Given the description of an element on the screen output the (x, y) to click on. 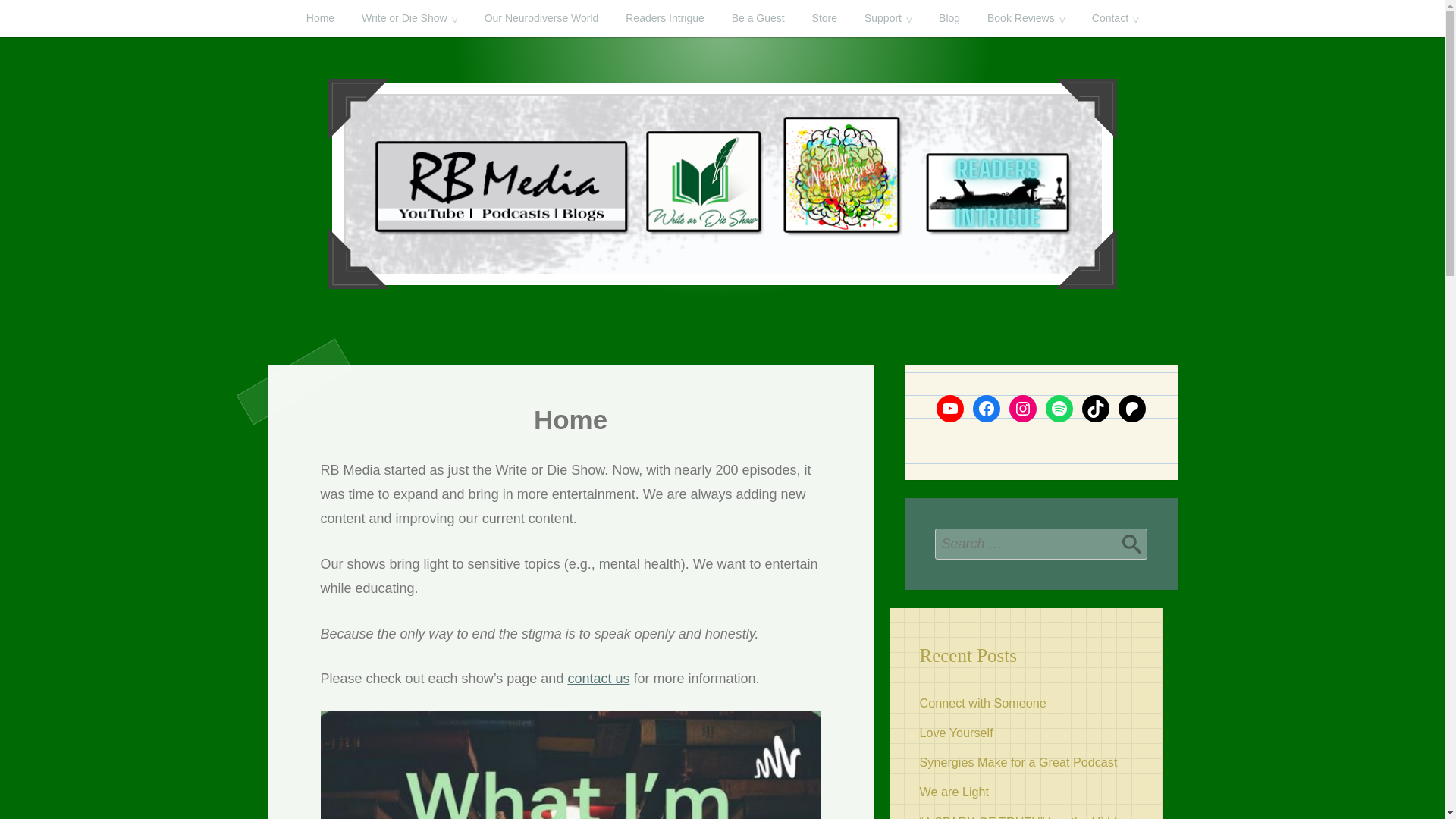
contact us (597, 678)
Contact (1115, 18)
Blog (949, 18)
Search (1131, 543)
Home (320, 18)
Be a Guest (757, 18)
Patreon (1131, 408)
Instagram (1022, 408)
Search (1131, 543)
TikTok (1094, 408)
YouTube (949, 408)
Support (887, 18)
Store (823, 18)
Readers Intrigue (664, 18)
Connect with Someone (981, 703)
